Given the description of an element on the screen output the (x, y) to click on. 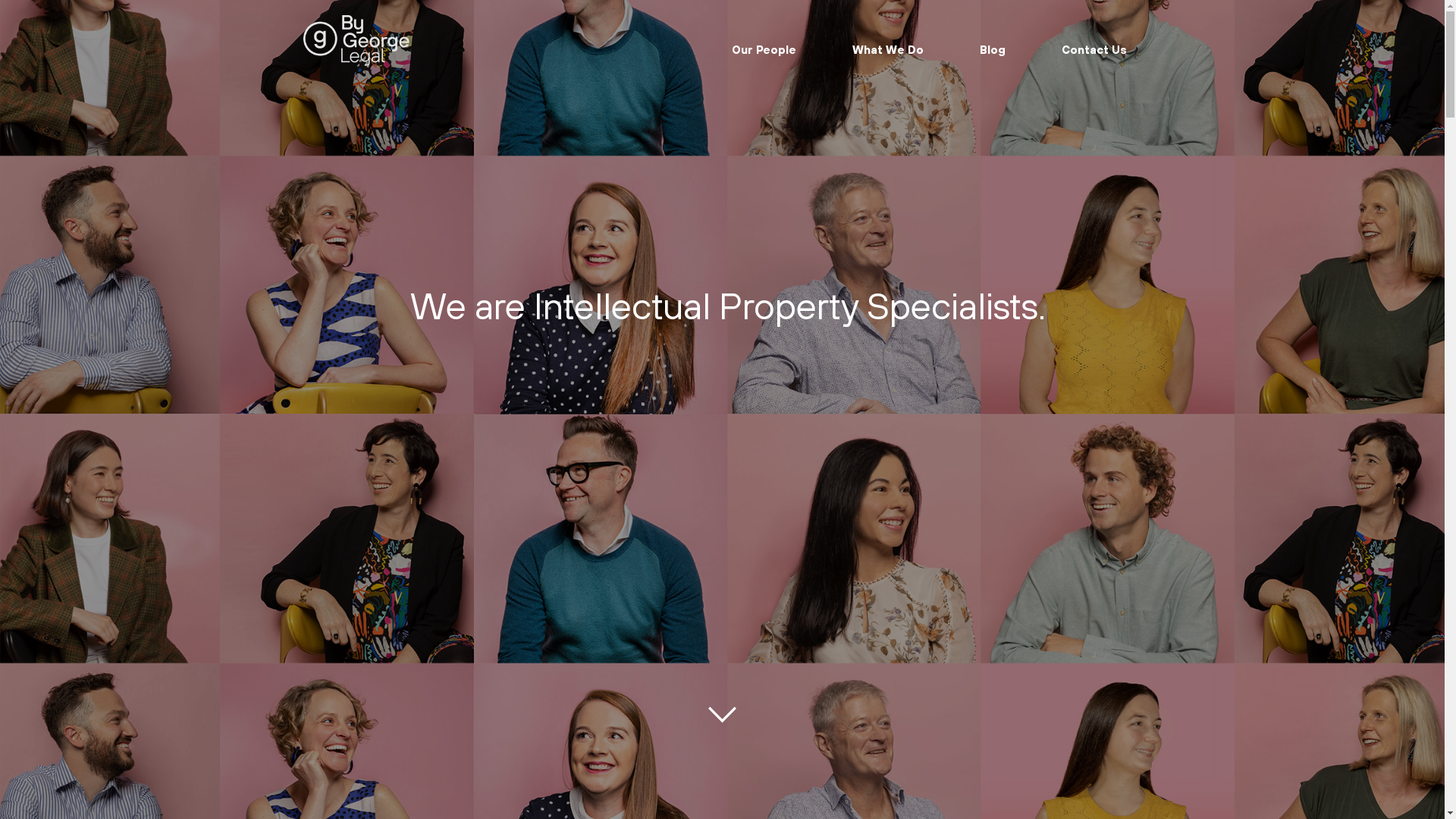
here Element type: text (936, 242)
